Given the description of an element on the screen output the (x, y) to click on. 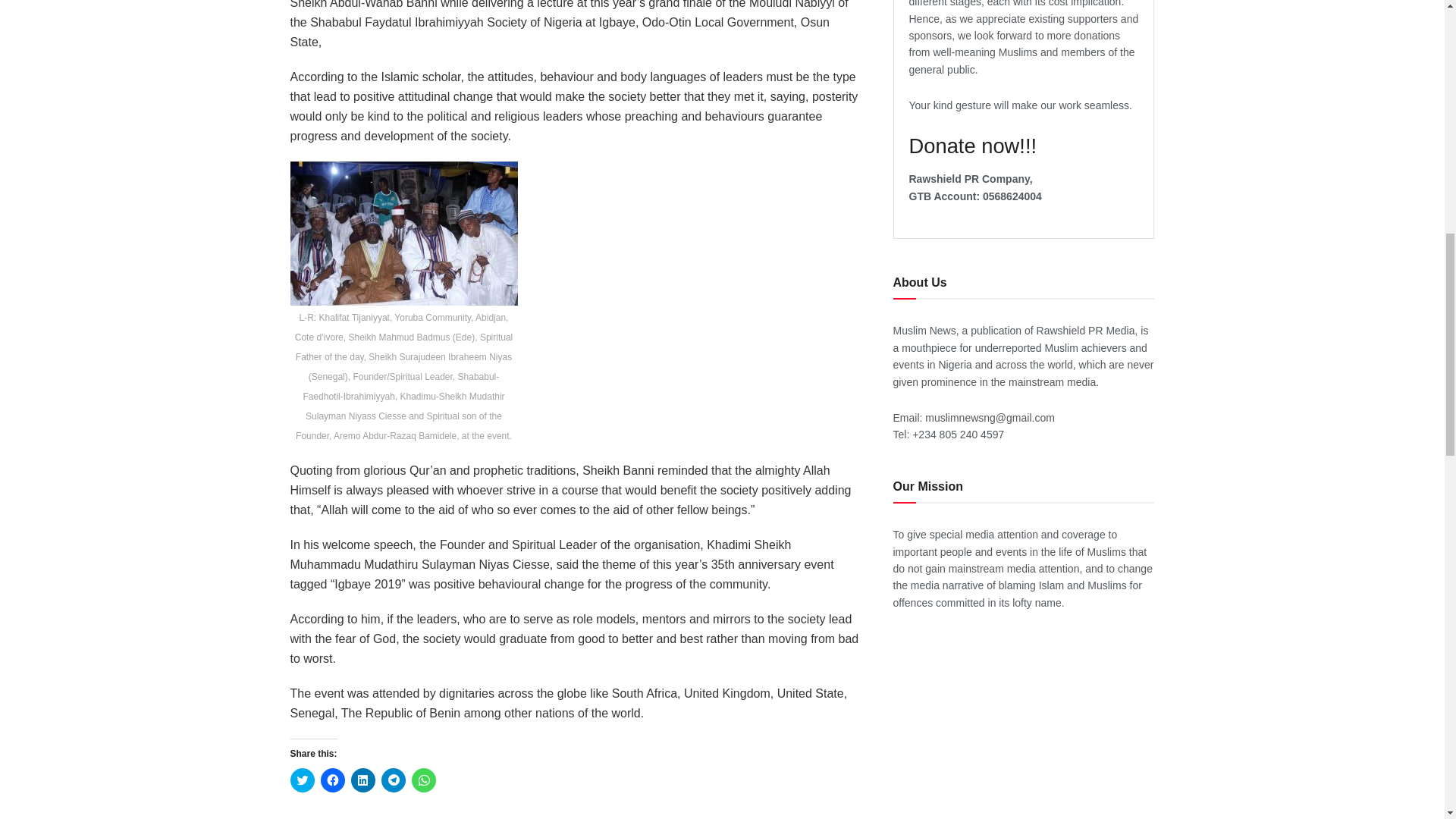
Click to share on Telegram (392, 780)
Click to share on LinkedIn (362, 780)
Click to share on Facebook (331, 780)
Click to share on Twitter (301, 780)
Click to share on WhatsApp (422, 780)
